Given the description of an element on the screen output the (x, y) to click on. 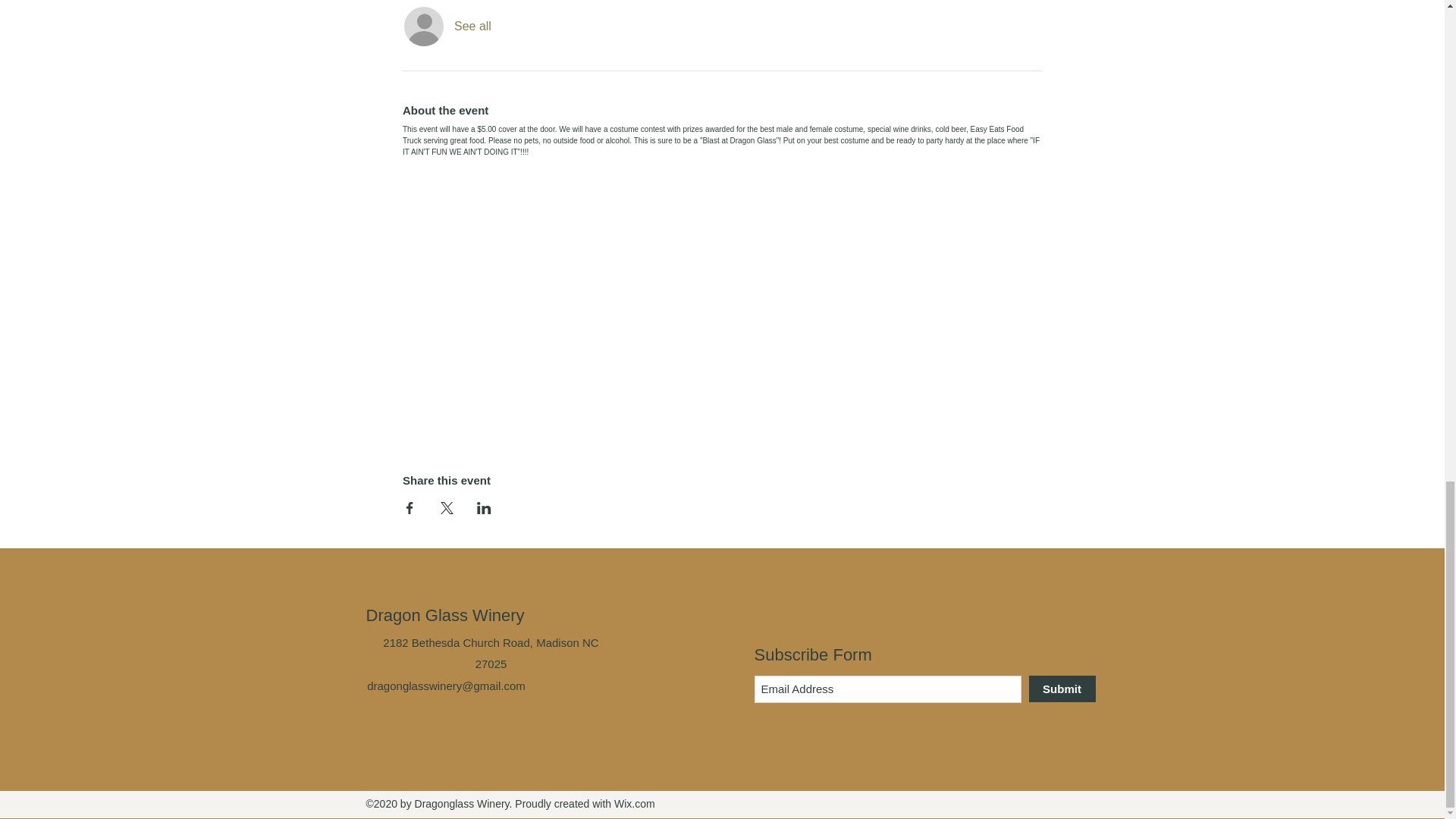
Submit (1060, 688)
Dragon Glass Winery (444, 615)
See all (473, 26)
